Given the description of an element on the screen output the (x, y) to click on. 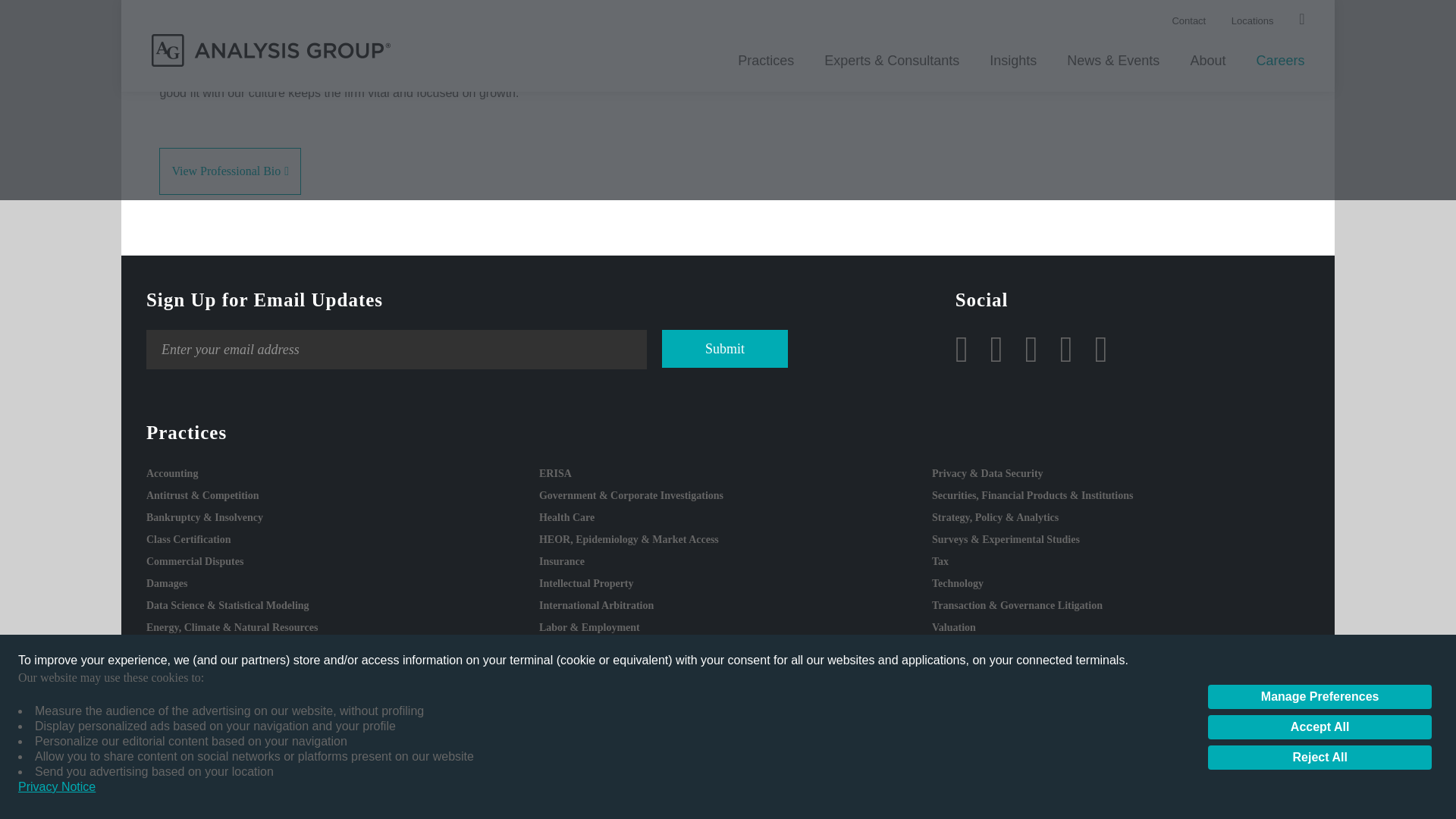
Manage Preferences (1319, 78)
Reject All (1319, 138)
Accept All (1319, 108)
Privacy Notice (56, 168)
